Given the description of an element on the screen output the (x, y) to click on. 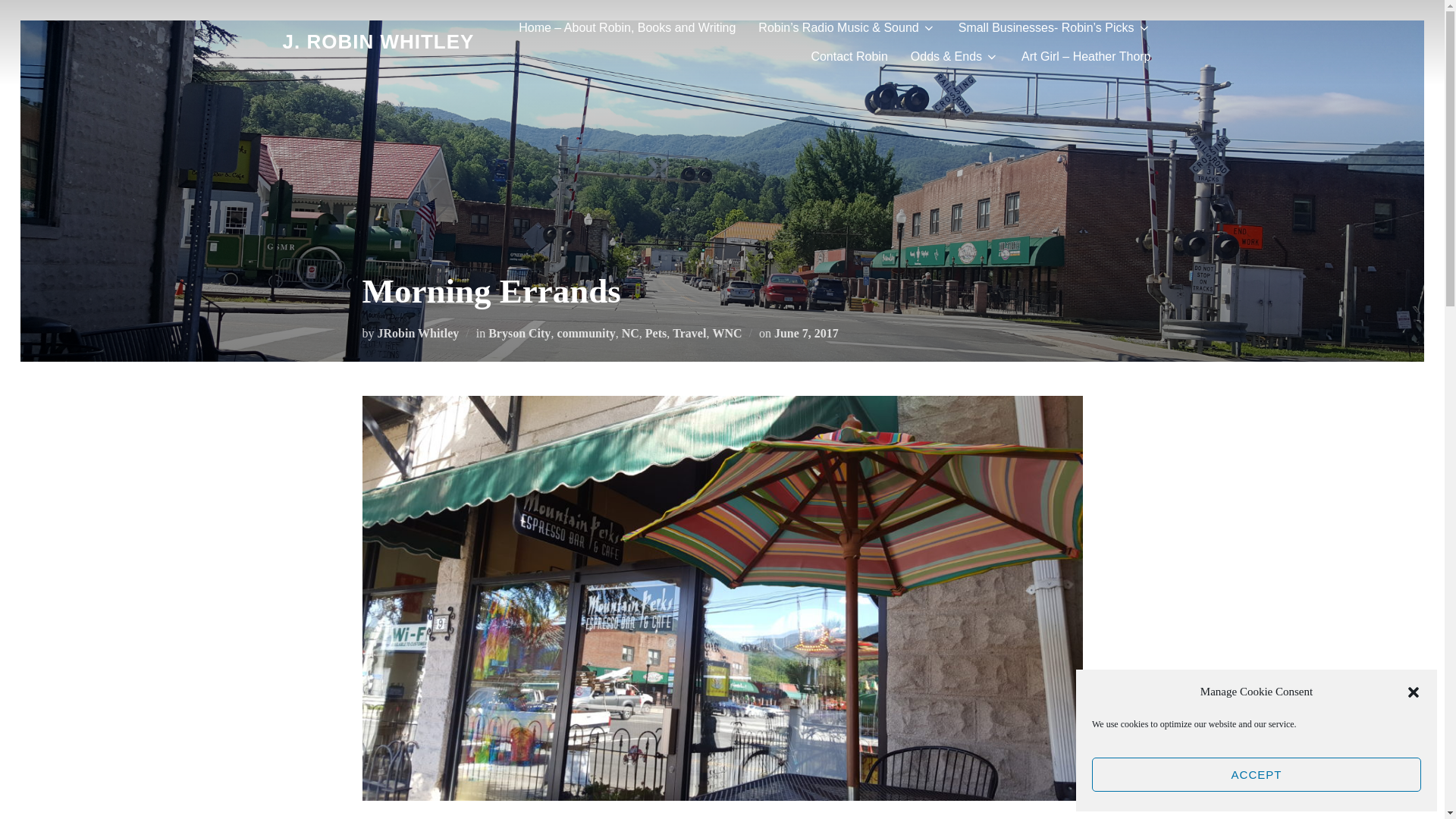
Contact Robin (848, 56)
ACCEPT (1256, 774)
Life is art! Live Beautifully! (378, 41)
J. ROBIN WHITLEY (378, 41)
